Given the description of an element on the screen output the (x, y) to click on. 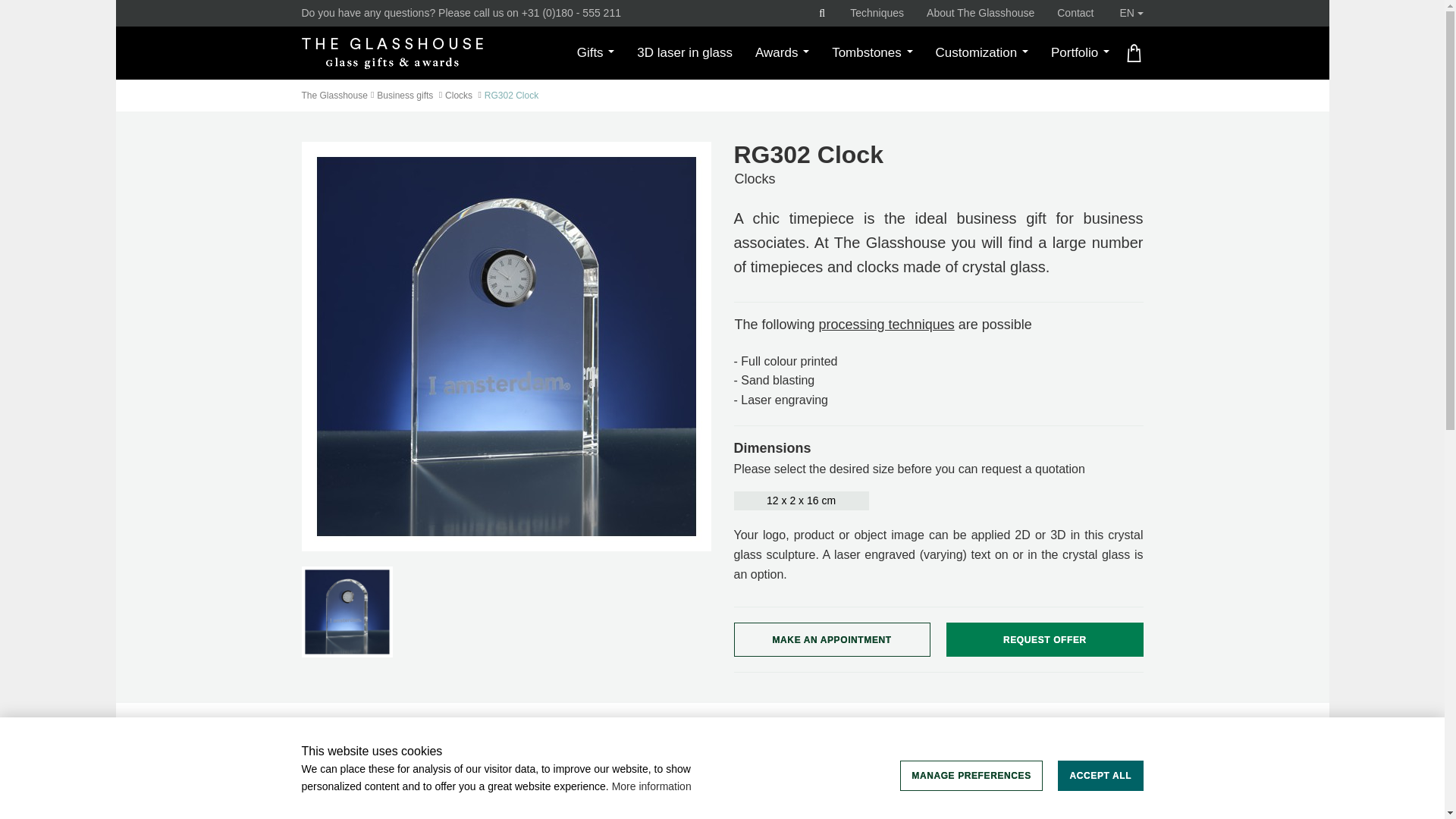
Customization (981, 52)
About The Glasshouse (980, 12)
ACCEPT ALL (1100, 775)
The Glasshouse (392, 53)
Contact (1075, 12)
Awards (782, 52)
Portfolio (1080, 52)
Tombstones (872, 52)
EN (1131, 13)
More information (651, 786)
Gifts (596, 52)
Techniques (876, 12)
MANAGE PREFERENCES (970, 775)
3D laser in glass (685, 52)
